Given the description of an element on the screen output the (x, y) to click on. 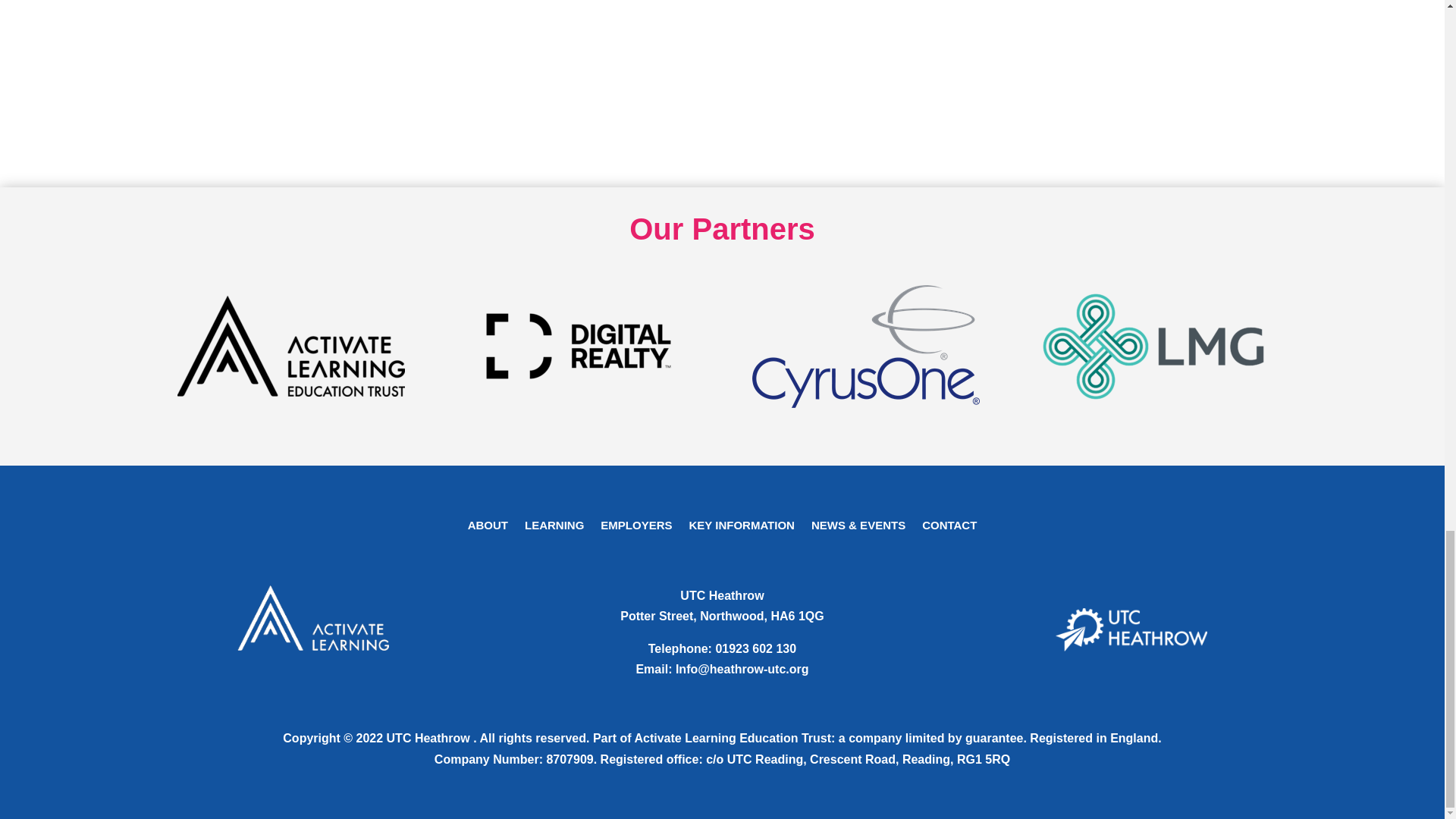
cyrus-one-logo-70AF1D9135-seeklogo.com (865, 346)
LMG logo RGB landscape (1152, 346)
